Given the description of an element on the screen output the (x, y) to click on. 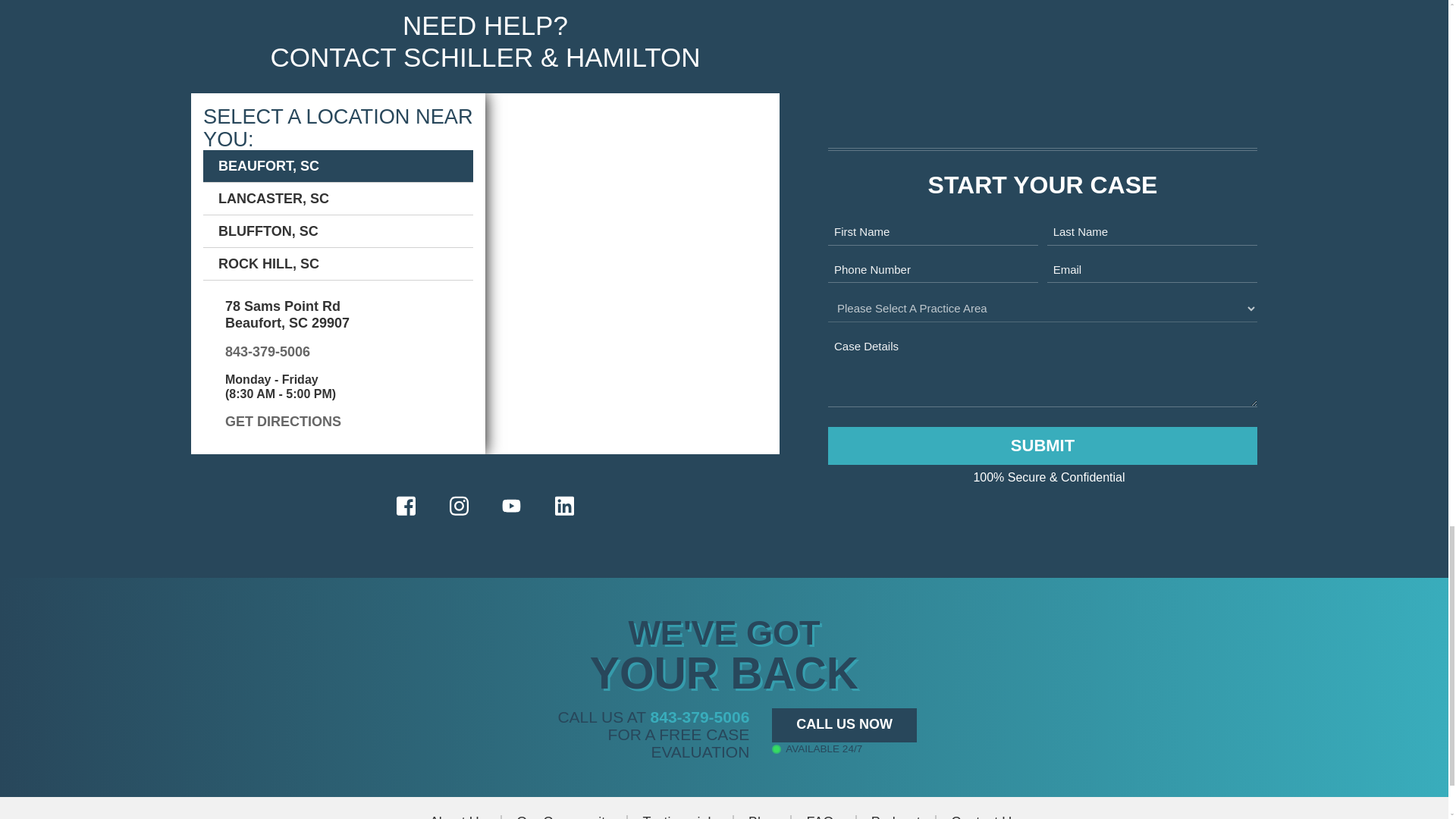
LinkedIn (564, 505)
Facebook (406, 505)
Instagram (458, 505)
Youtube (510, 505)
